Given the description of an element on the screen output the (x, y) to click on. 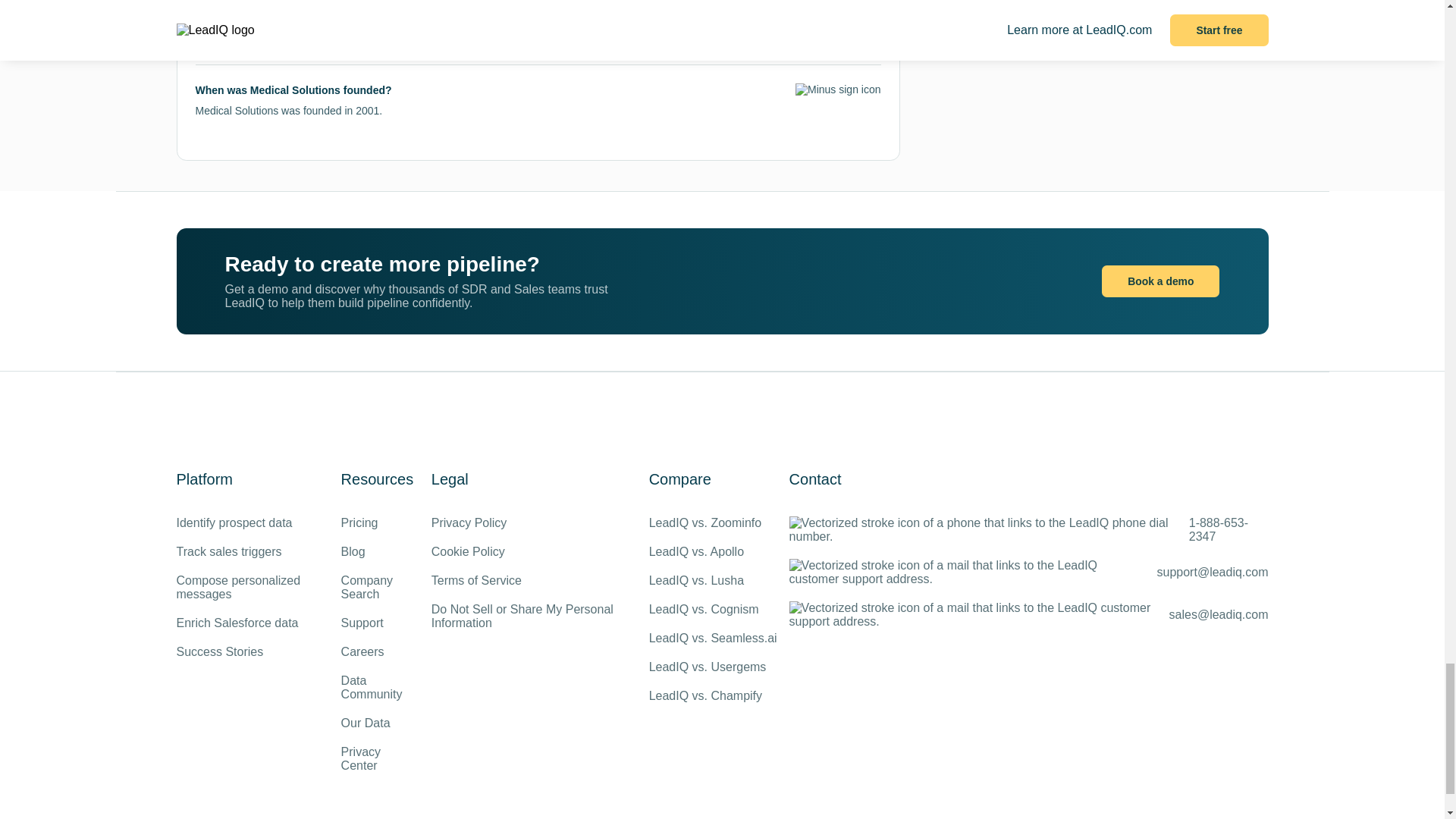
Find more Medical Solutions email formats (597, 39)
